Given the description of an element on the screen output the (x, y) to click on. 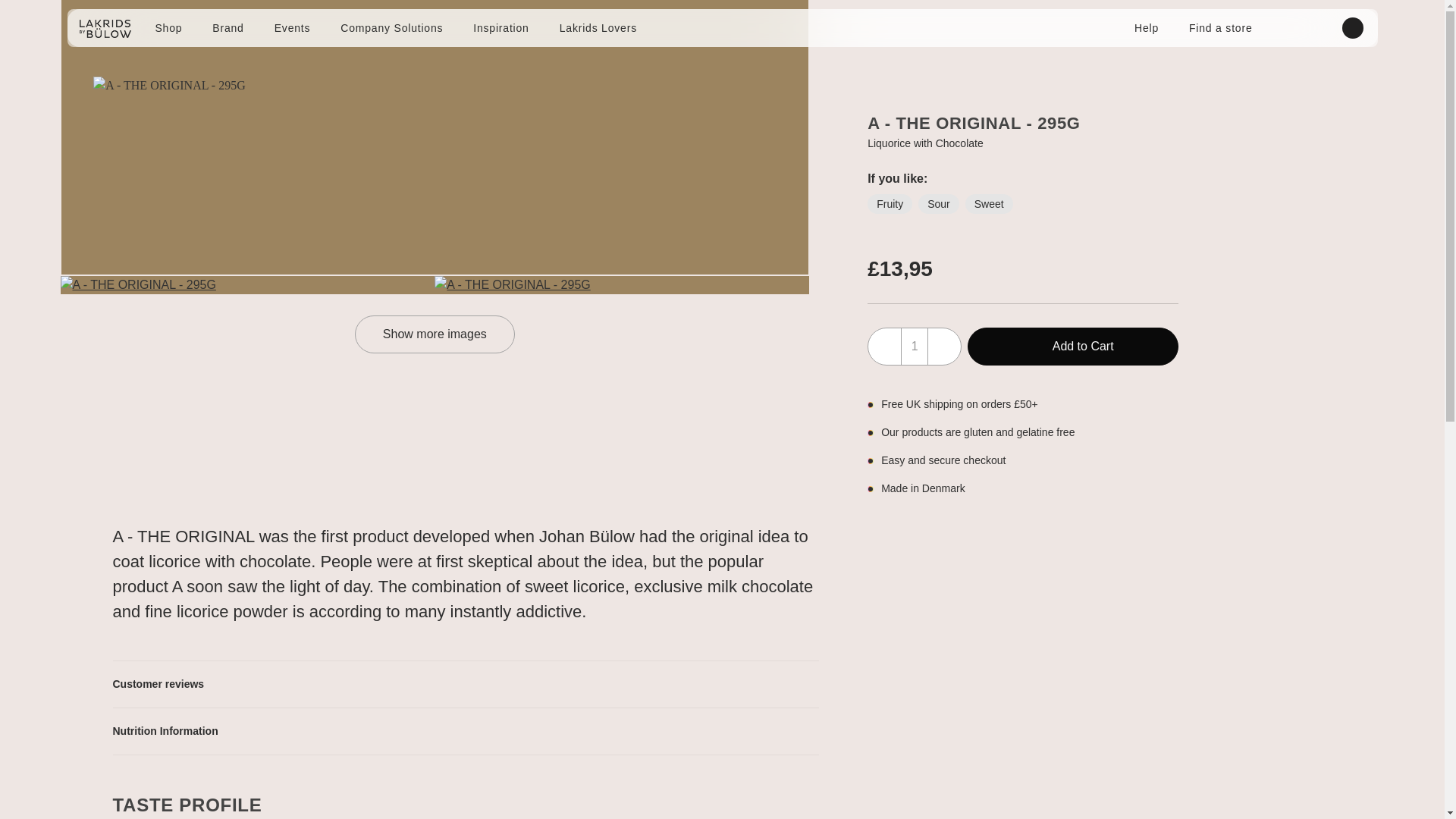
lakridsbybulow.co.uk (104, 28)
Brand (227, 27)
Company Solutions (391, 27)
A - THE ORIGINAL - 295G (621, 285)
1 (914, 346)
A - THE ORIGINAL - 295G (434, 85)
A - THE ORIGINAL - 295G (248, 285)
Find a store (1220, 27)
Events (292, 27)
Lakrids Lovers (597, 27)
Shop (167, 27)
Help (1146, 27)
Inspiration (500, 27)
